Given the description of an element on the screen output the (x, y) to click on. 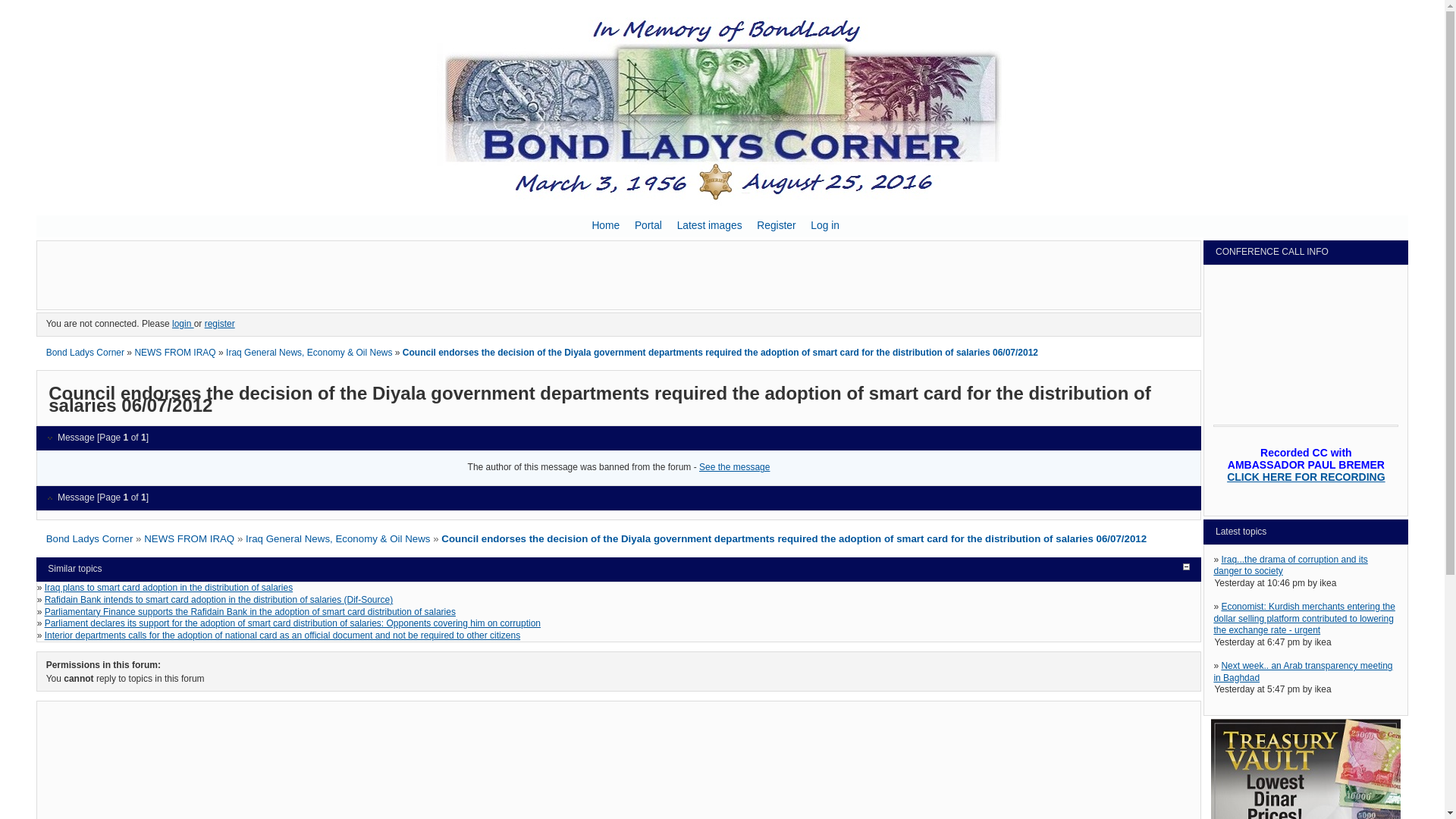
register (219, 323)
Portal (647, 225)
